Given the description of an element on the screen output the (x, y) to click on. 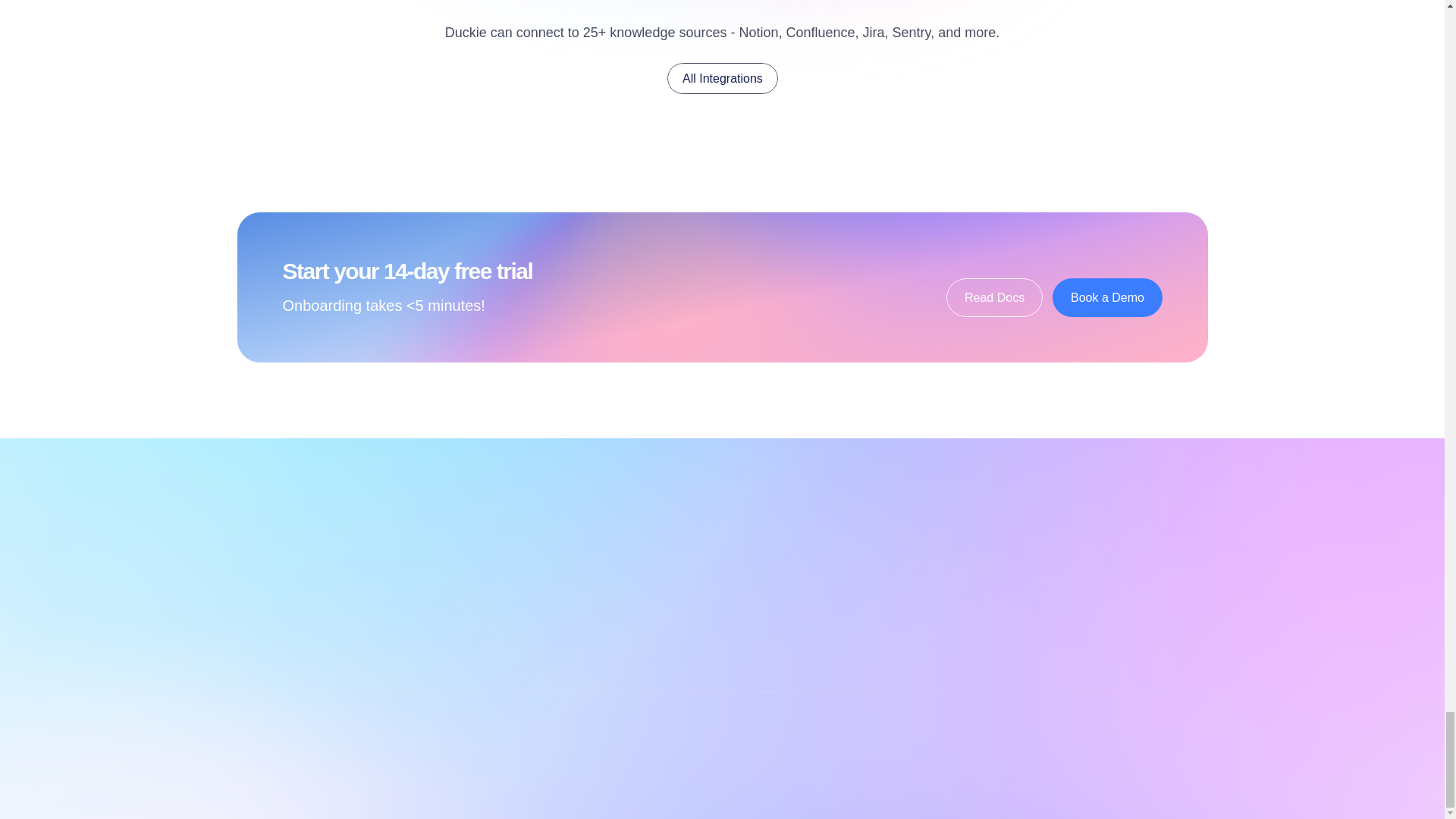
Book a Demo (1106, 297)
All Integrations (721, 78)
Read Docs (994, 297)
